Given the description of an element on the screen output the (x, y) to click on. 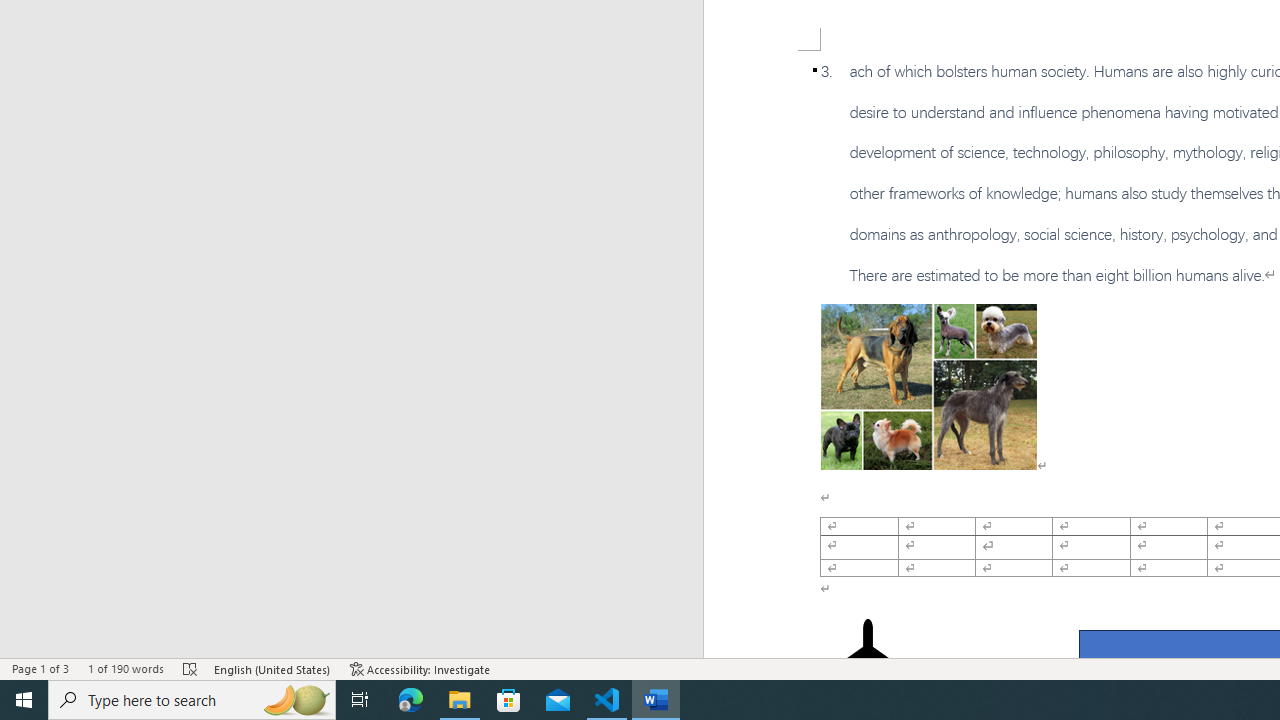
Page Number Page 1 of 3 (39, 668)
Language English (United States) (273, 668)
Accessibility Checker Accessibility: Investigate (420, 668)
Morphological variation in six dogs (928, 386)
Airplane with solid fill (867, 657)
Spelling and Grammar Check Errors (191, 668)
